Given the description of an element on the screen output the (x, y) to click on. 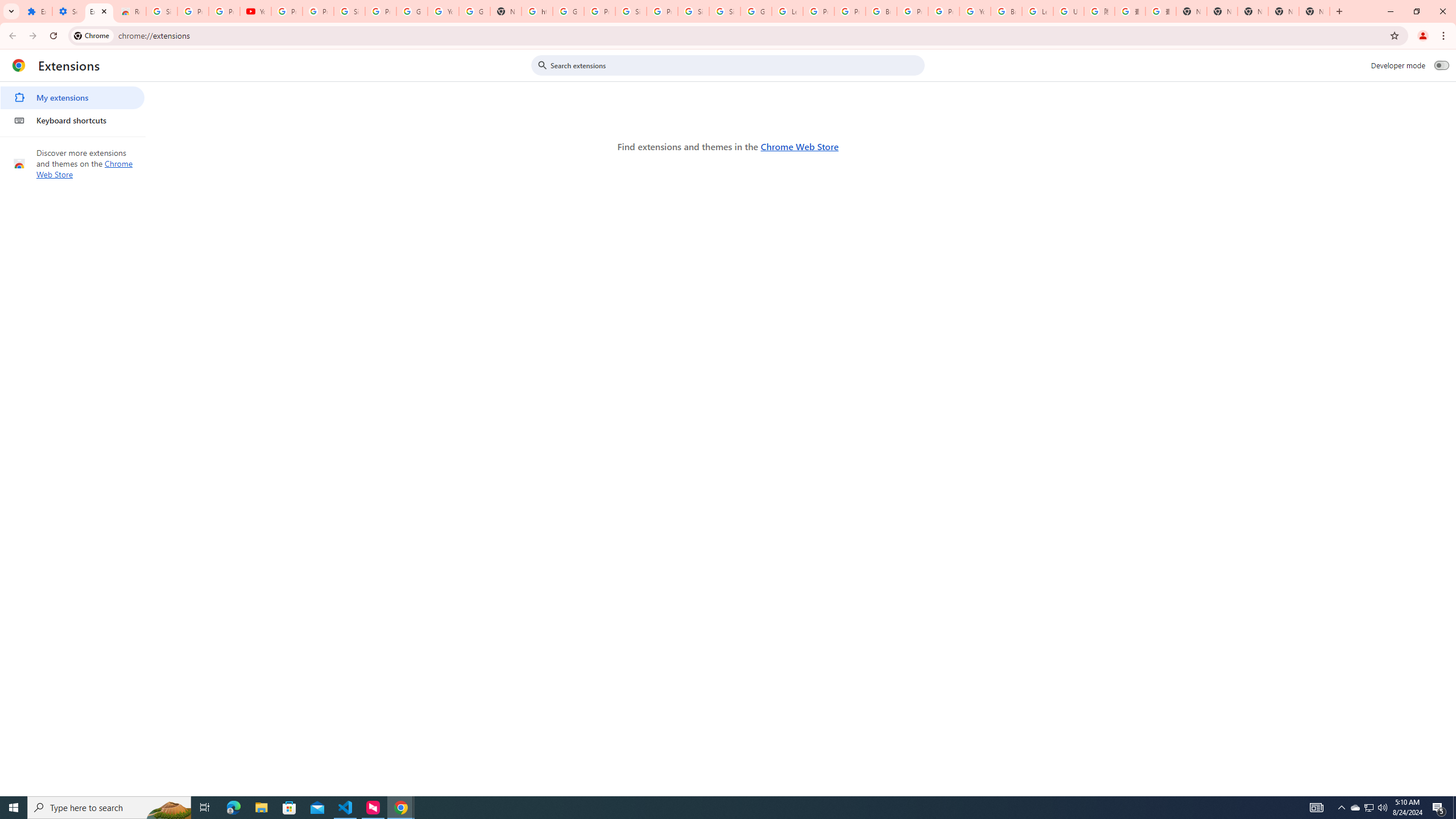
Search extensions (735, 65)
YouTube (255, 11)
Sign in - Google Accounts (631, 11)
https://scholar.google.com/ (536, 11)
Privacy Help Center - Policies Help (849, 11)
Settings (67, 11)
Keyboard shortcuts (72, 119)
